Given the description of an element on the screen output the (x, y) to click on. 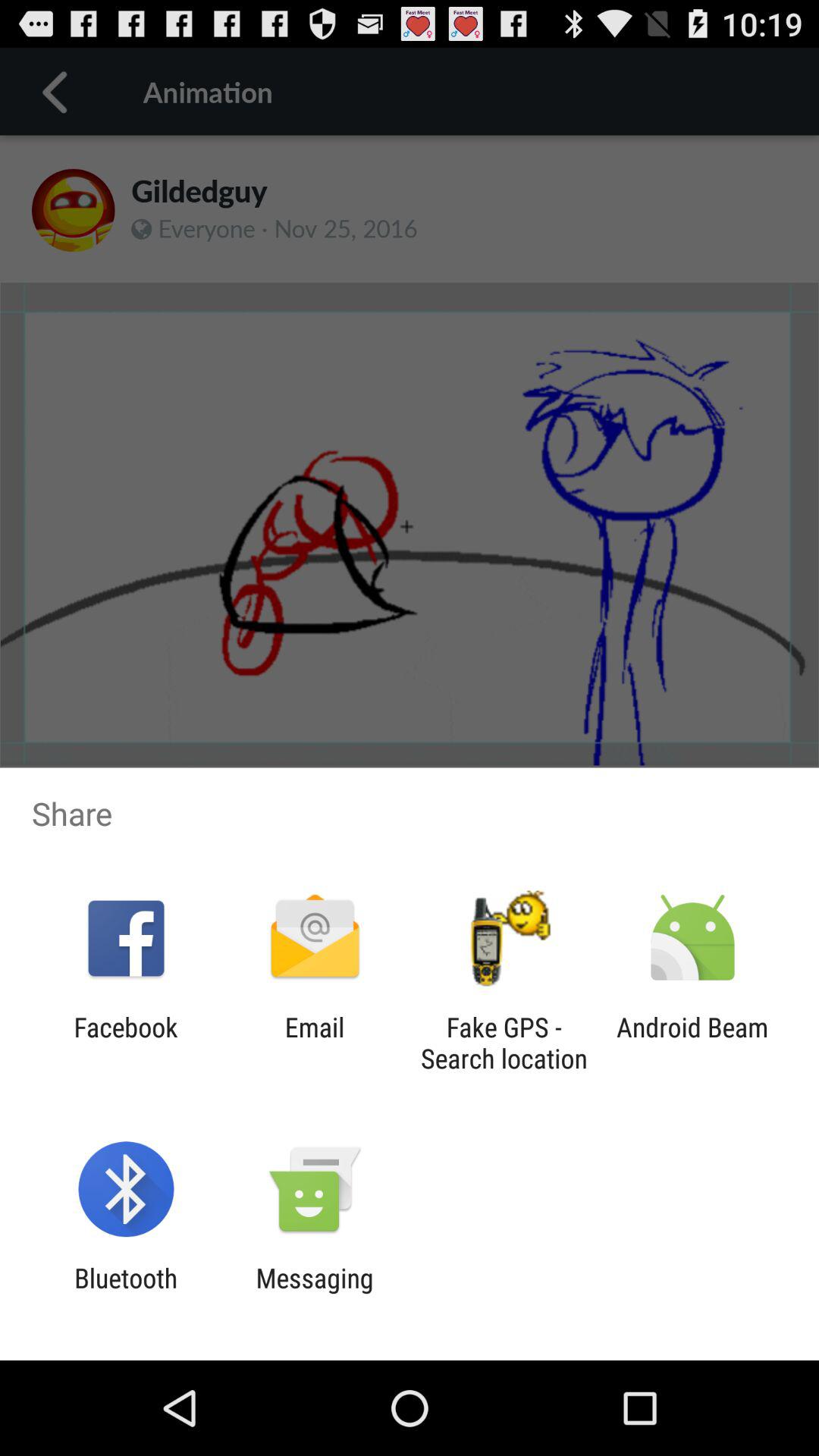
select the icon to the right of the facebook app (314, 1042)
